Given the description of an element on the screen output the (x, y) to click on. 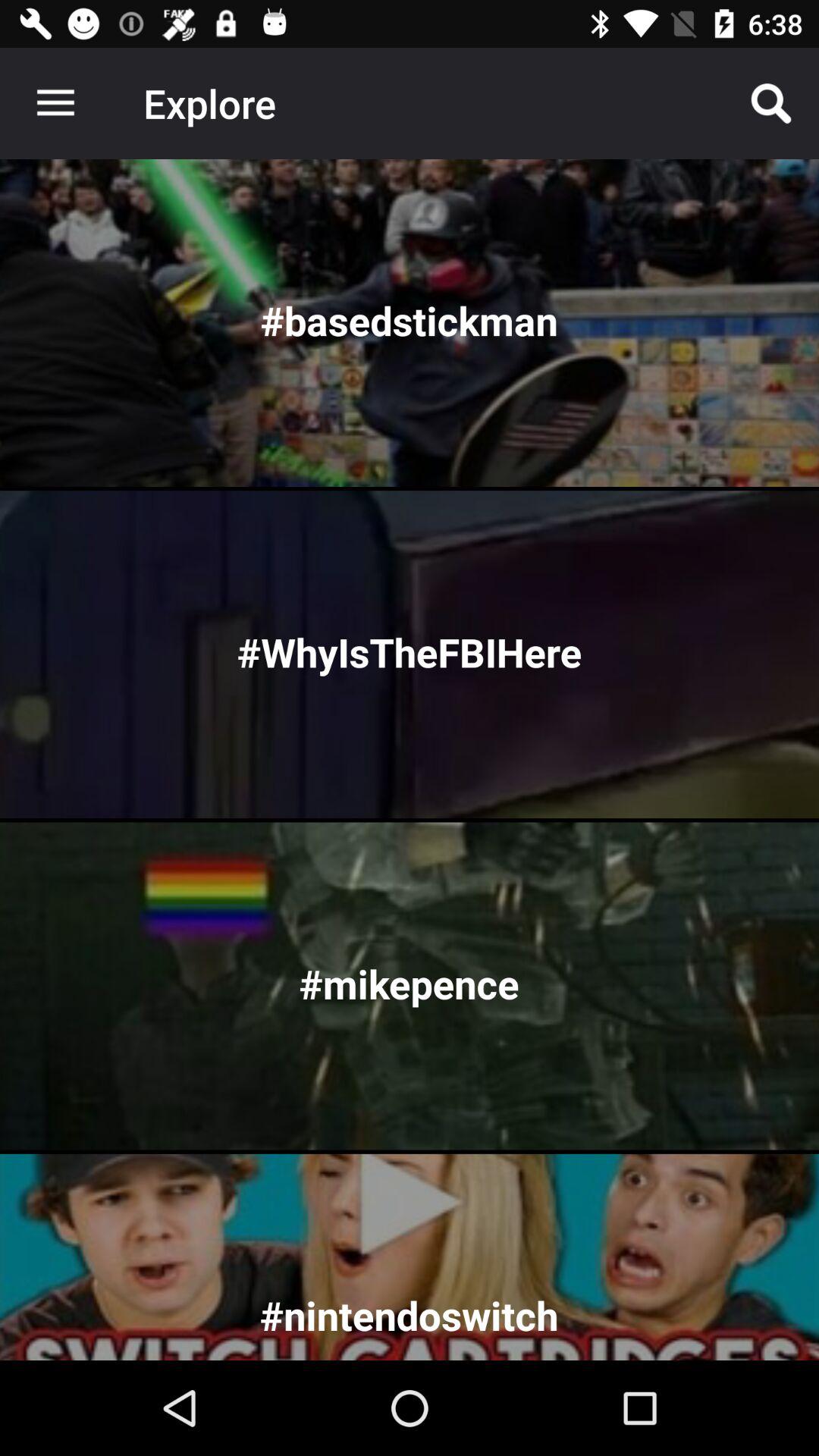
turn off item at the top right corner (771, 103)
